Given the description of an element on the screen output the (x, y) to click on. 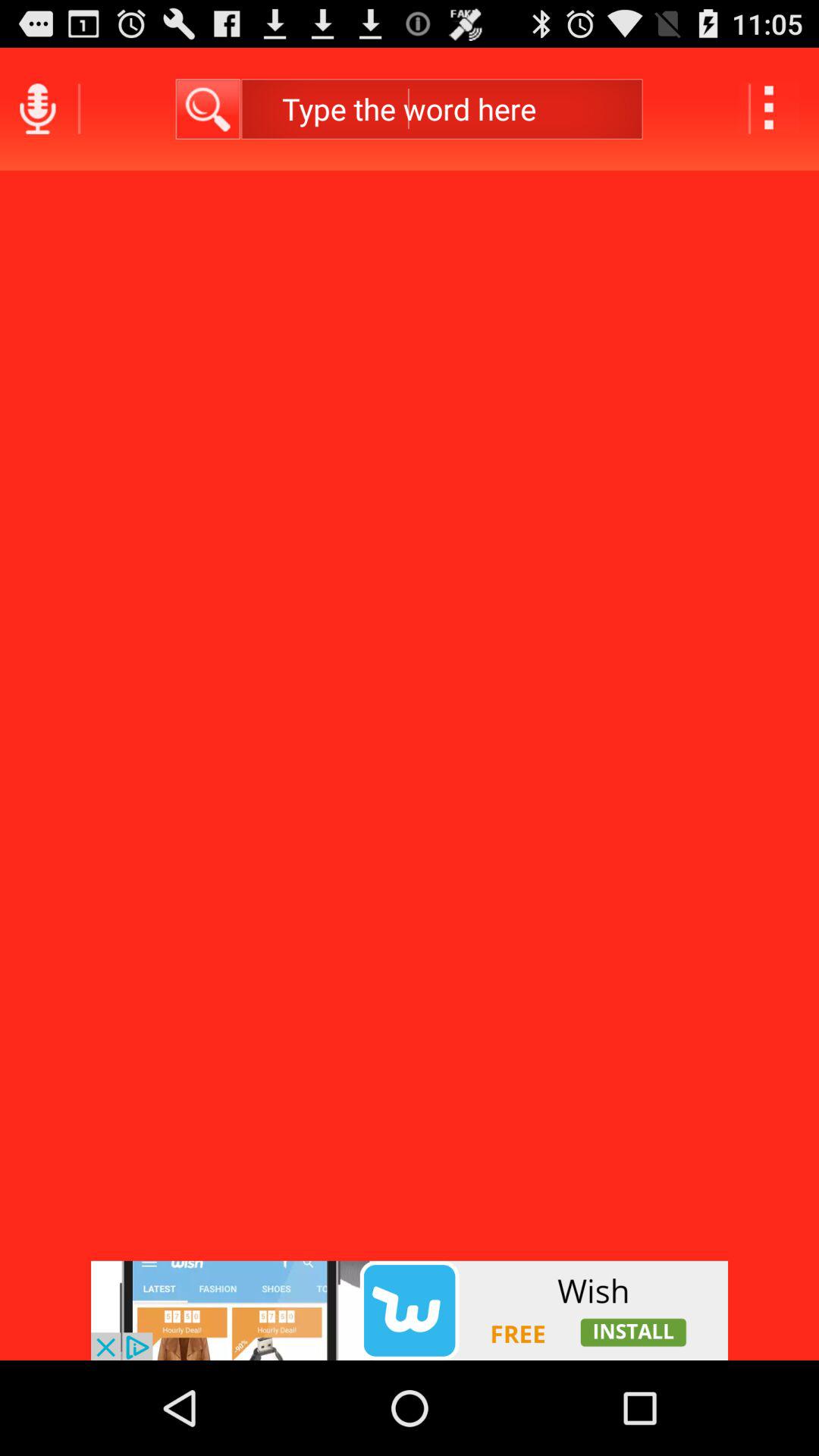
advertisement page (409, 1310)
